Given the description of an element on the screen output the (x, y) to click on. 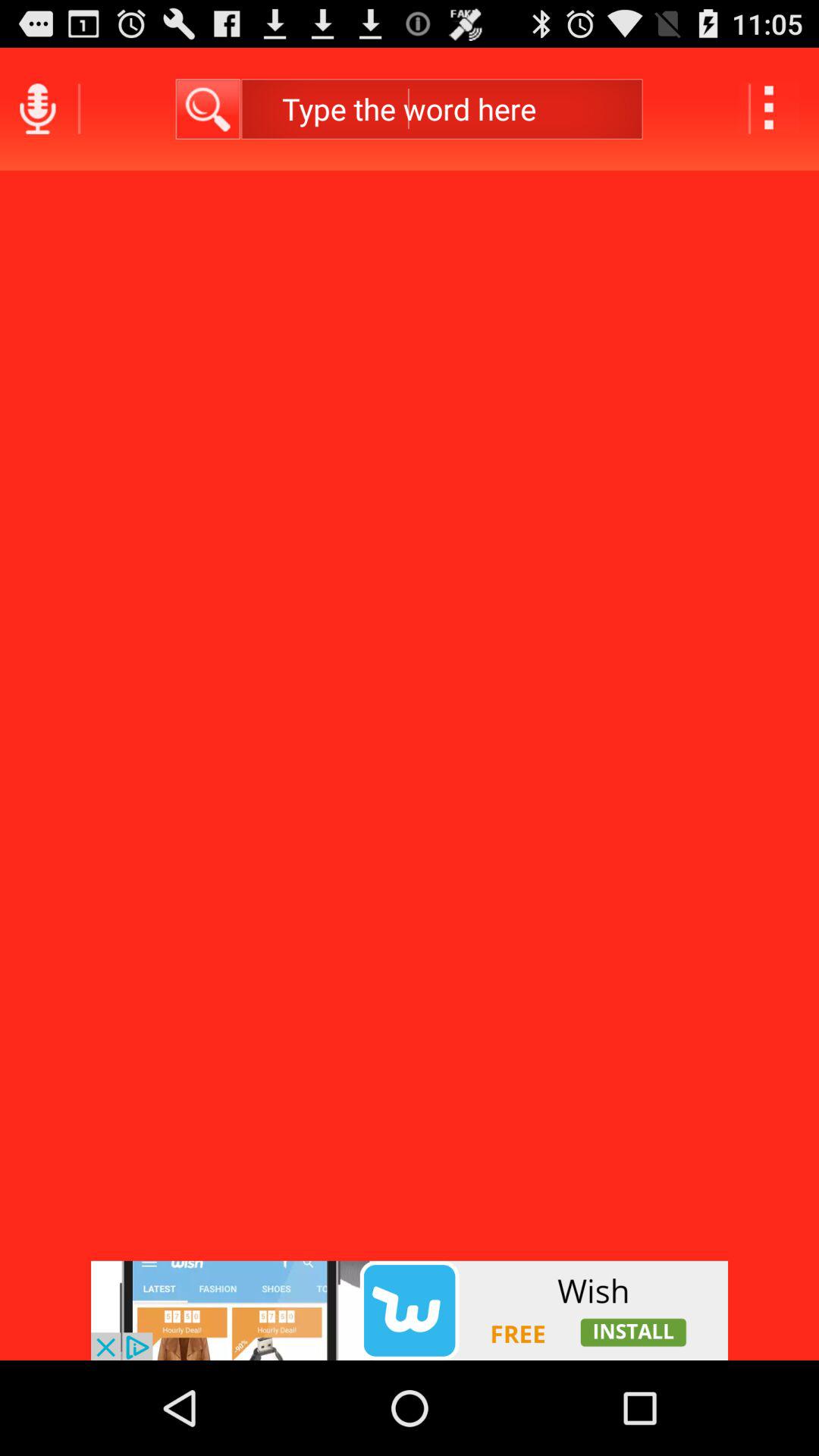
advertisement page (409, 1310)
